Given the description of an element on the screen output the (x, y) to click on. 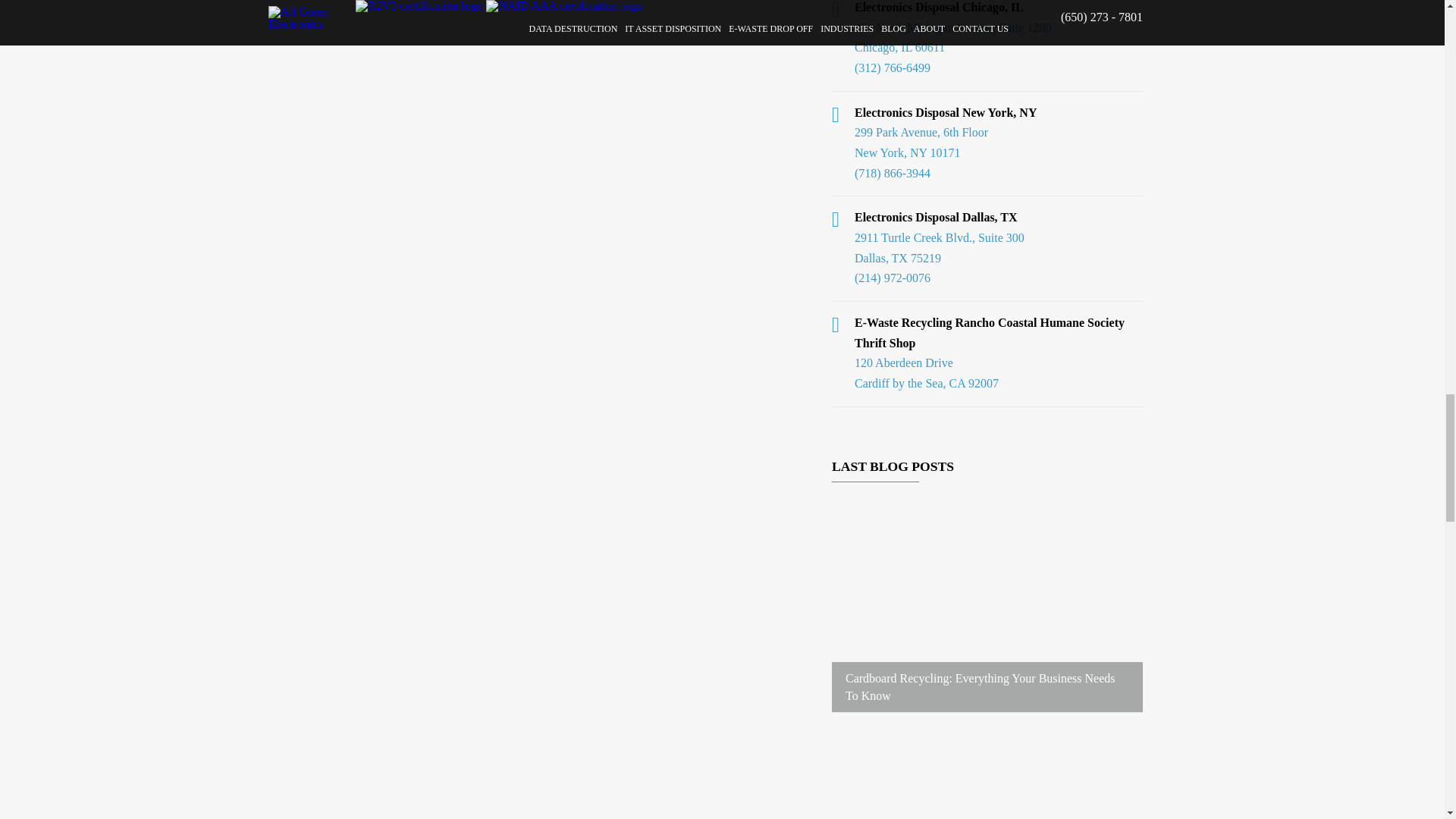
Recycling equipment and mandated laws 8 (986, 777)
